Given the description of an element on the screen output the (x, y) to click on. 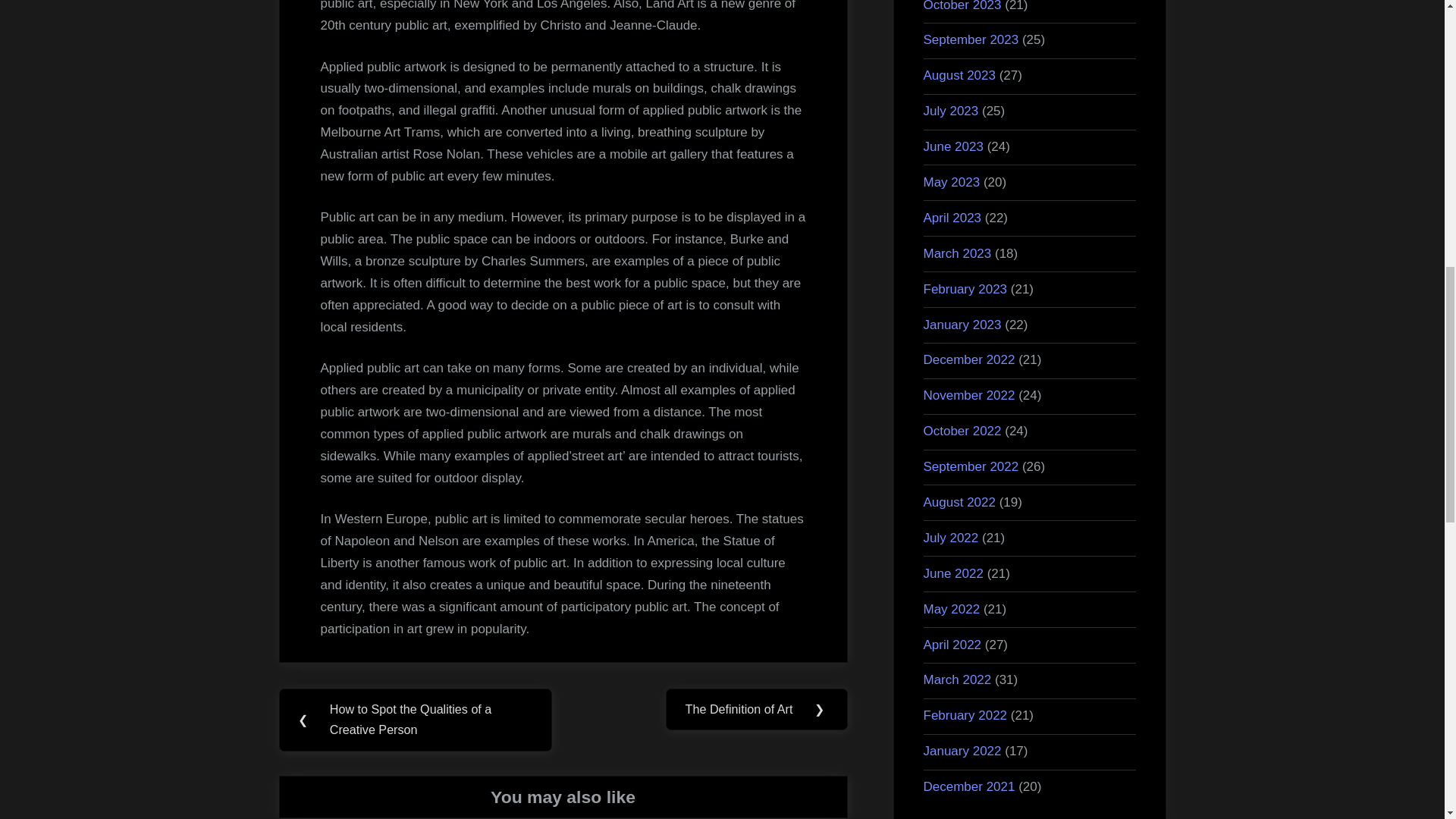
August 2023 (959, 74)
July 2023 (950, 110)
October 2023 (962, 6)
September 2023 (971, 39)
May 2023 (951, 182)
June 2023 (953, 146)
